Given the description of an element on the screen output the (x, y) to click on. 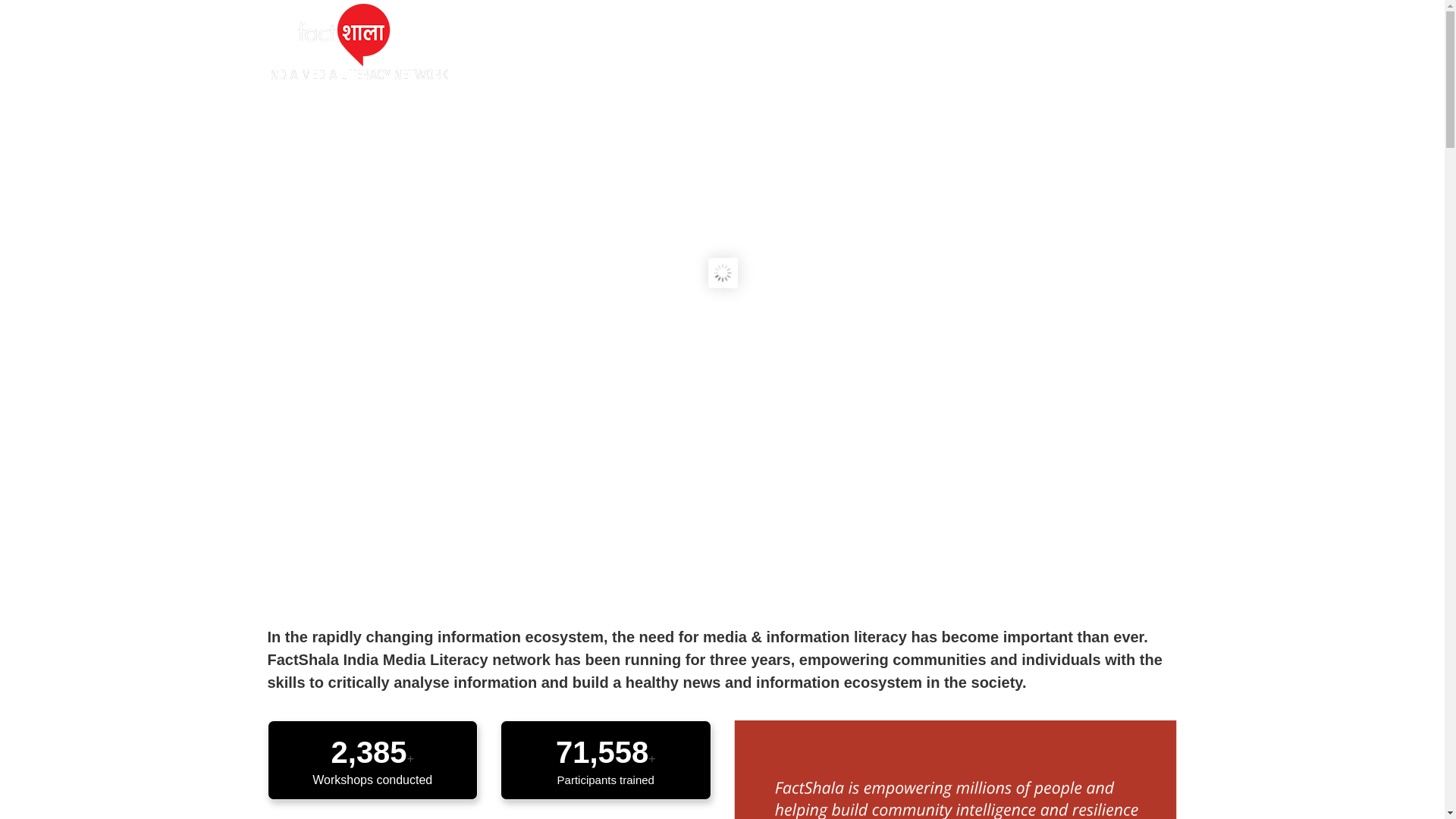
Contact Us (1141, 41)
About us (708, 41)
Ambassador Programme (917, 41)
Case Study (1049, 41)
Our Work (790, 41)
